Given the description of an element on the screen output the (x, y) to click on. 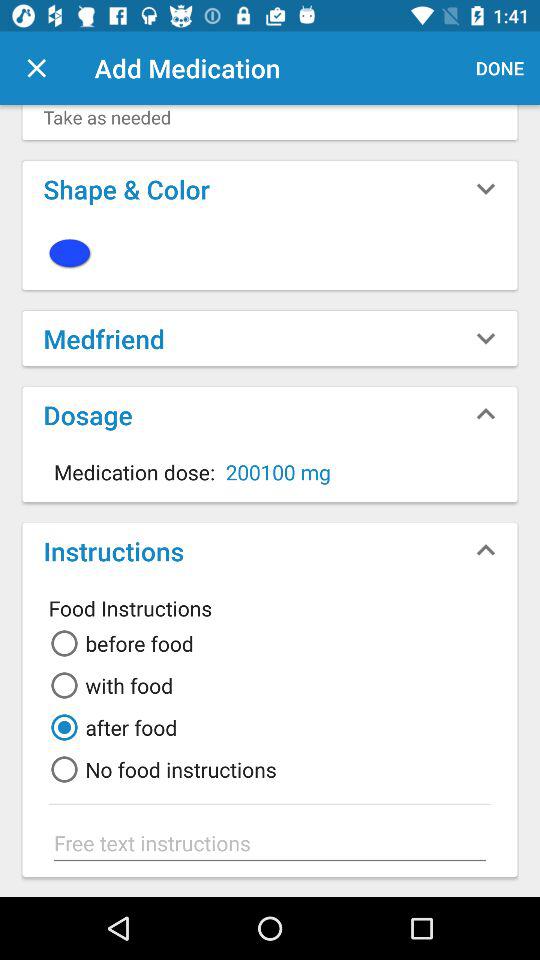
leave screen (36, 68)
